Given the description of an element on the screen output the (x, y) to click on. 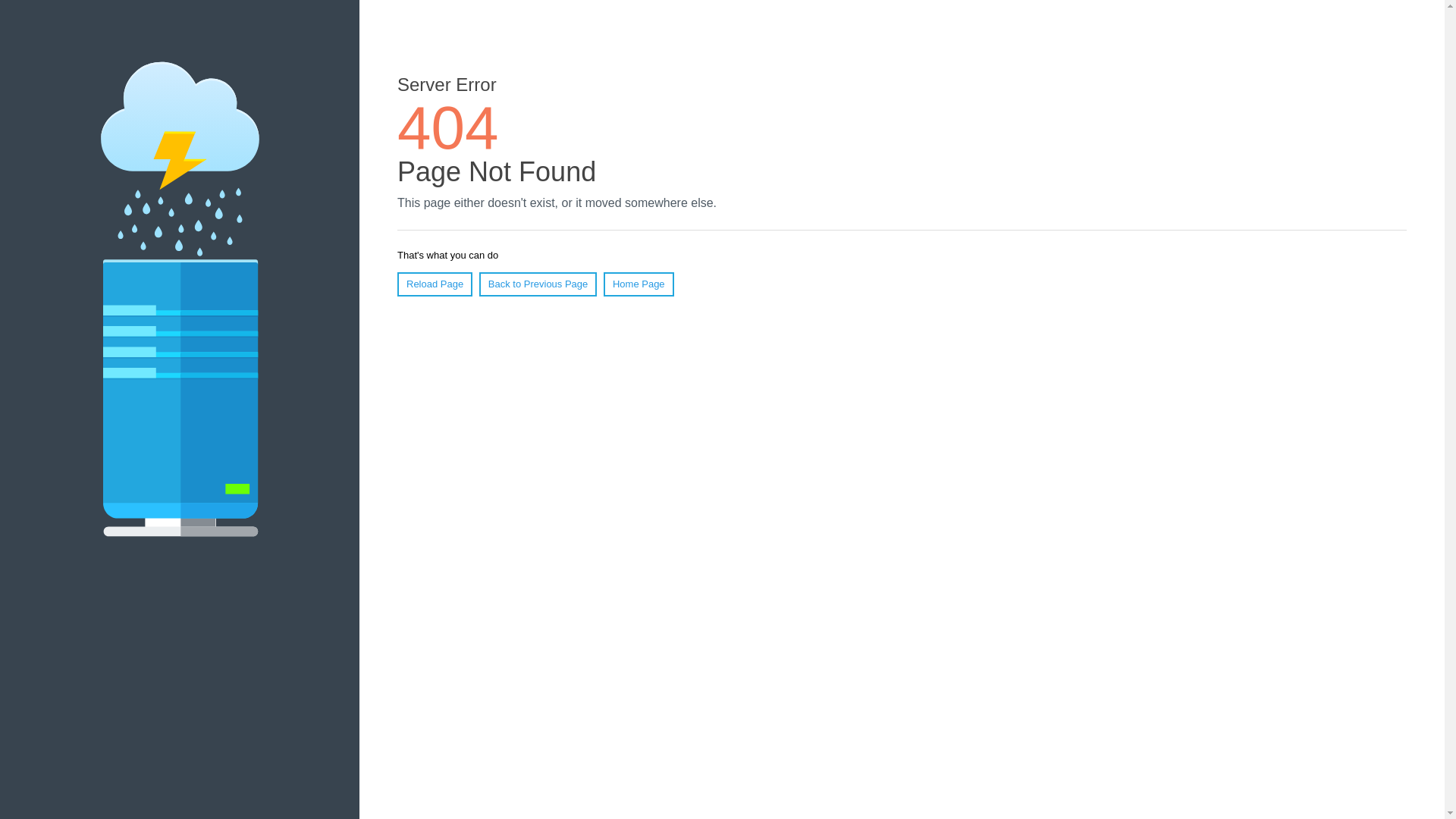
Home Page (639, 283)
Reload Page (434, 283)
Back to Previous Page (537, 283)
